Given the description of an element on the screen output the (x, y) to click on. 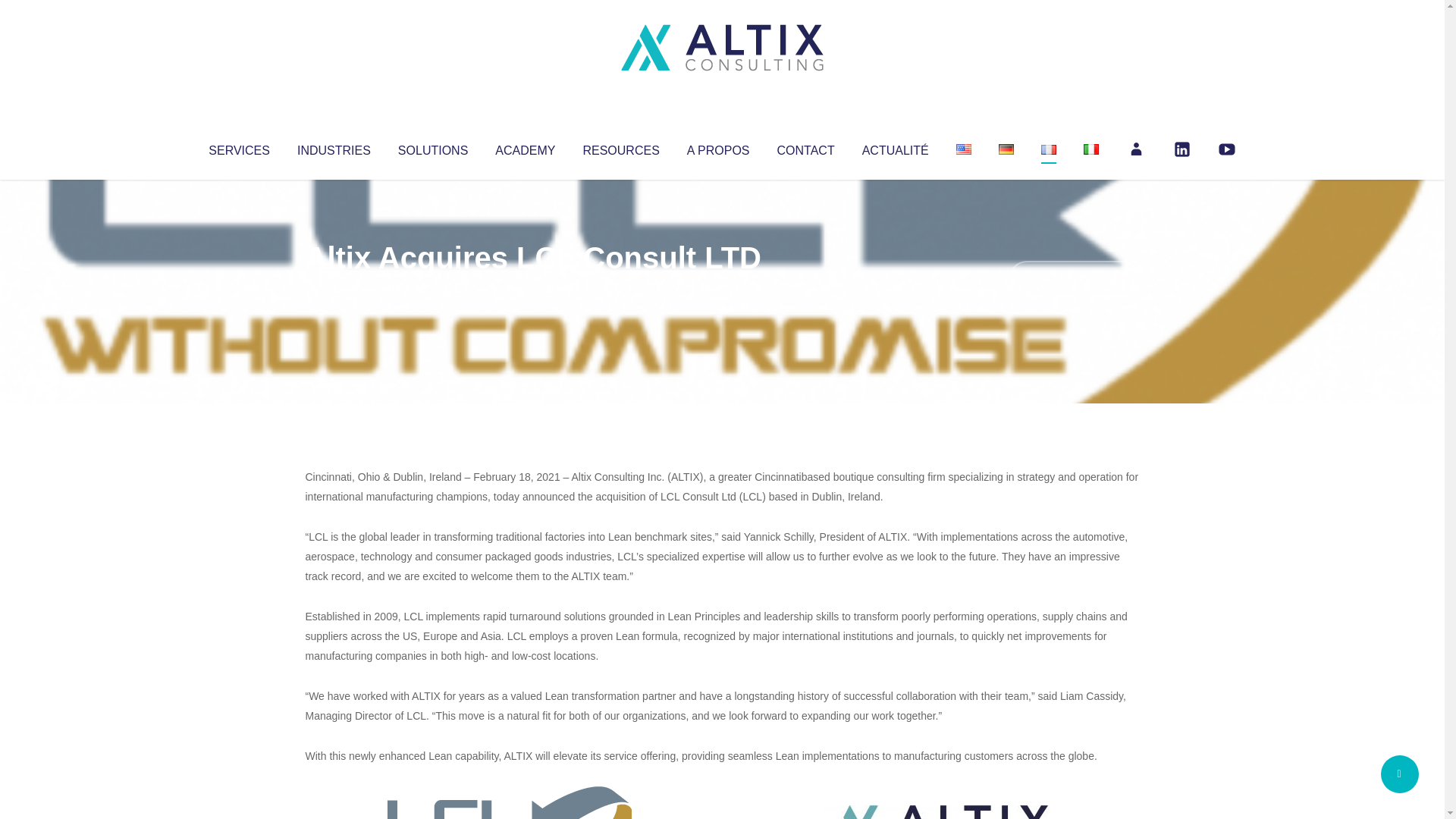
No Comments (1073, 278)
Articles par Altix (333, 287)
Uncategorized (530, 287)
A PROPOS (718, 146)
SOLUTIONS (432, 146)
RESOURCES (620, 146)
INDUSTRIES (334, 146)
Altix (333, 287)
ACADEMY (524, 146)
SERVICES (238, 146)
